Given the description of an element on the screen output the (x, y) to click on. 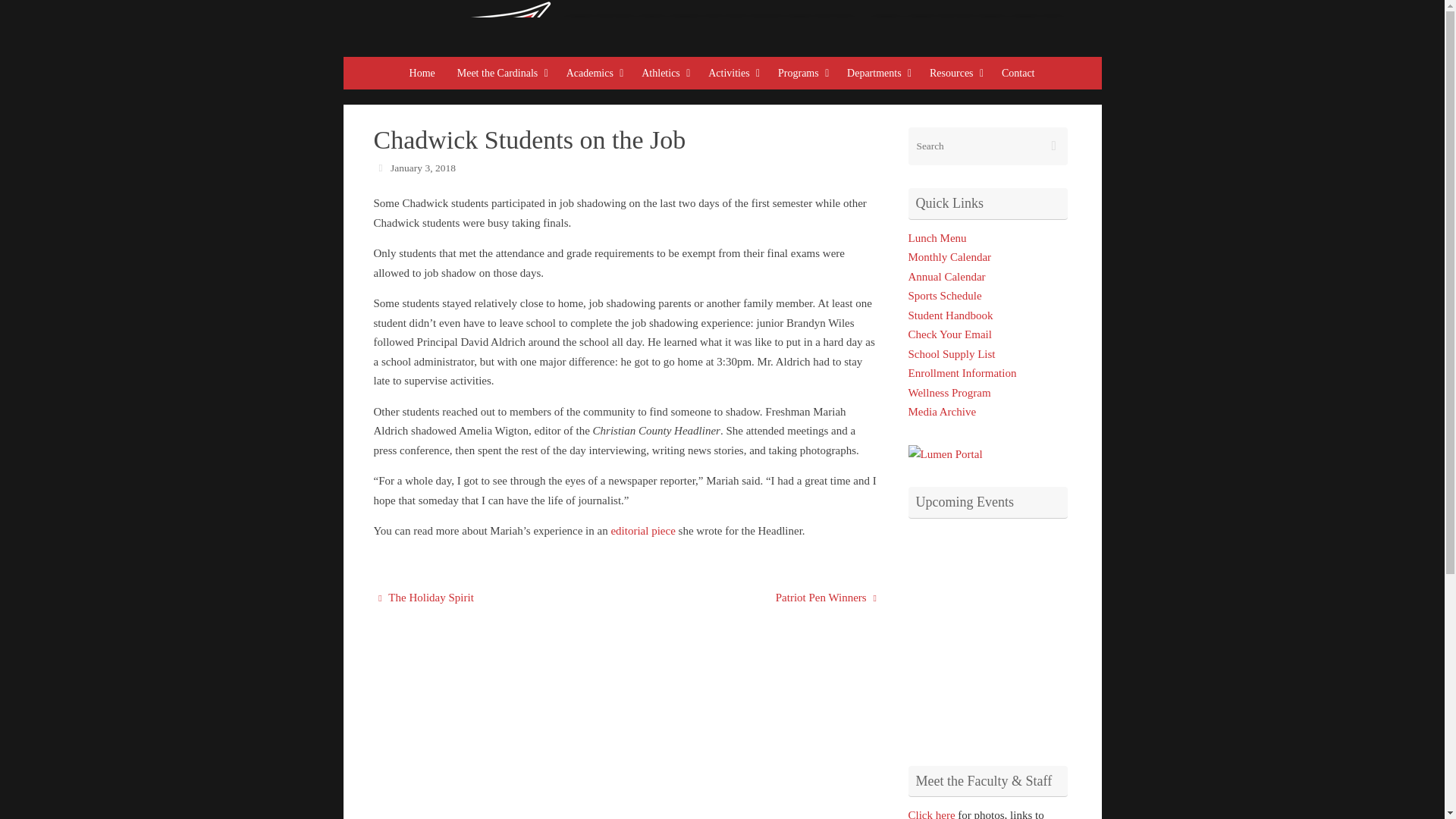
Home (422, 72)
Academics (593, 72)
Meet the Cardinals (501, 72)
Activities (732, 72)
Date (379, 167)
Athletics (663, 72)
